Given the description of an element on the screen output the (x, y) to click on. 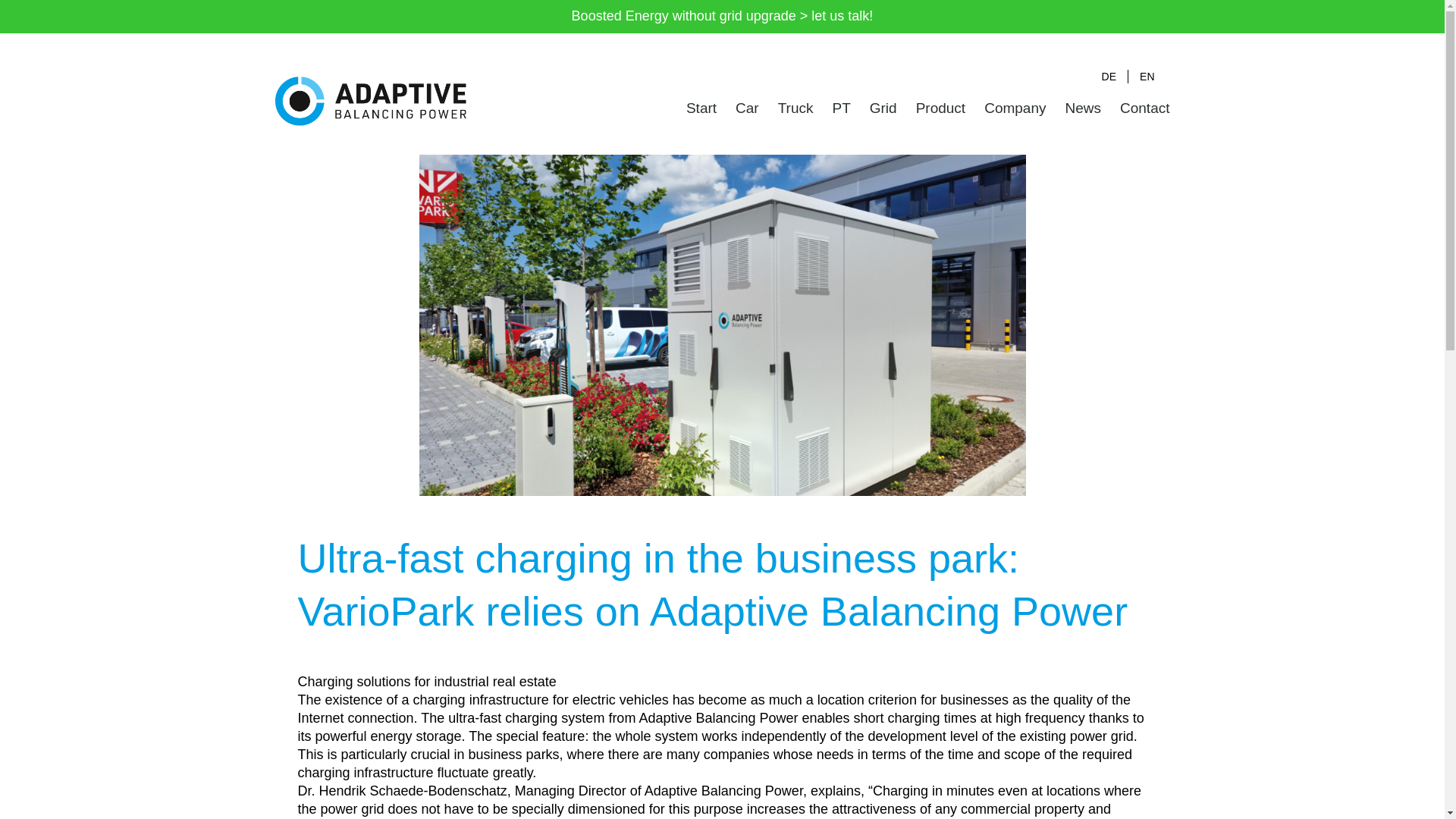
DE (1105, 77)
News (1082, 108)
EN (1142, 77)
Company (1014, 108)
Product (940, 108)
Contact (1144, 108)
Grid (882, 108)
Truck (795, 108)
Start (700, 108)
